Given the description of an element on the screen output the (x, y) to click on. 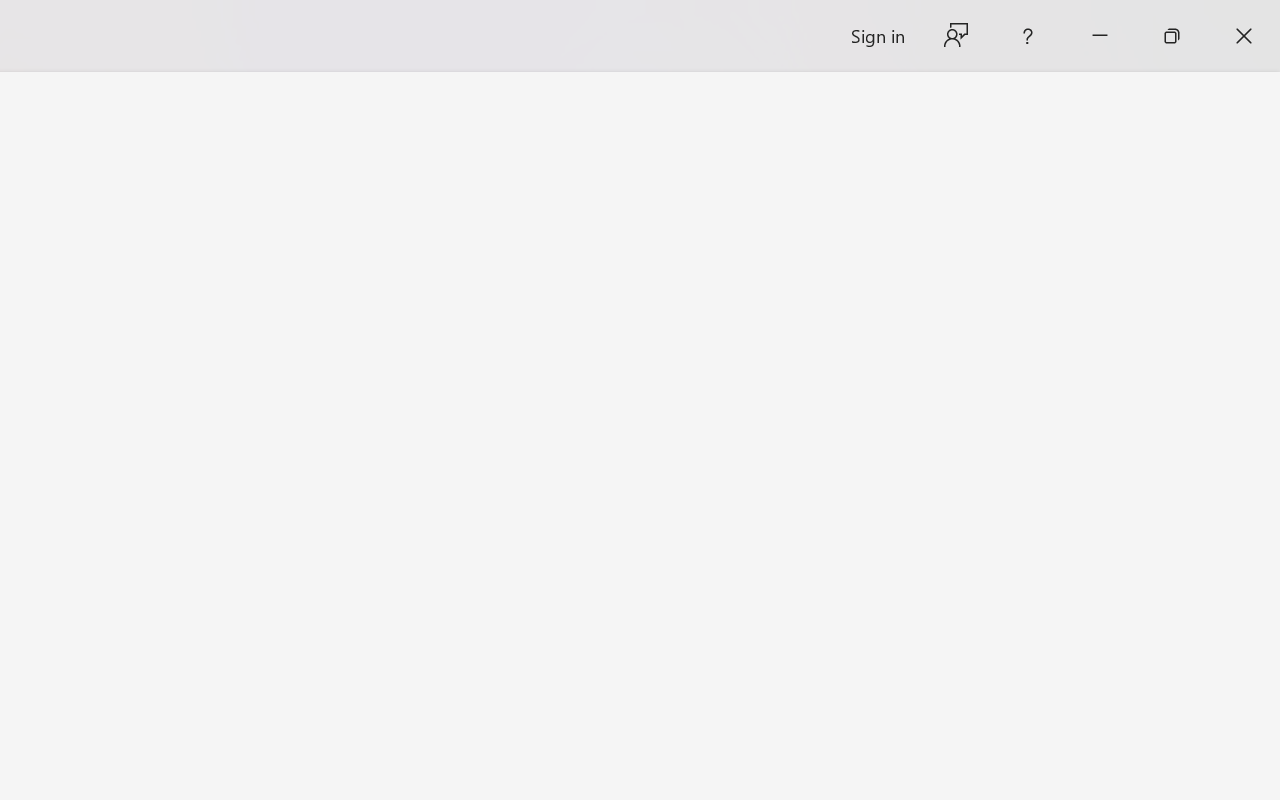
Sign in (875, 35)
